Given the description of an element on the screen output the (x, y) to click on. 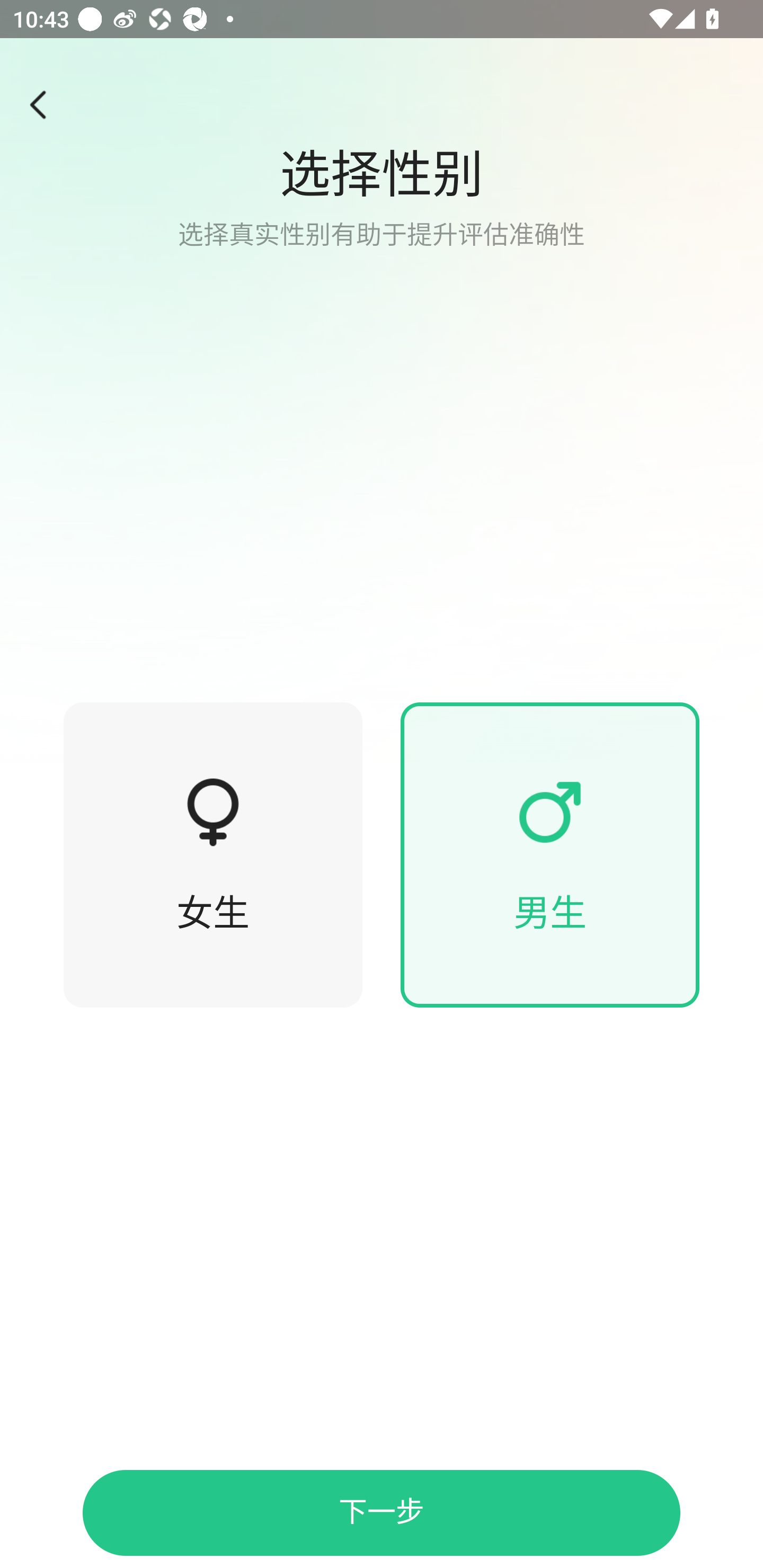
1 (381, 381)
1 (44, 104)
1 女生 (212, 855)
1 男生 (549, 855)
1 (212, 811)
1 (549, 811)
下一步 (381, 1512)
